Given the description of an element on the screen output the (x, y) to click on. 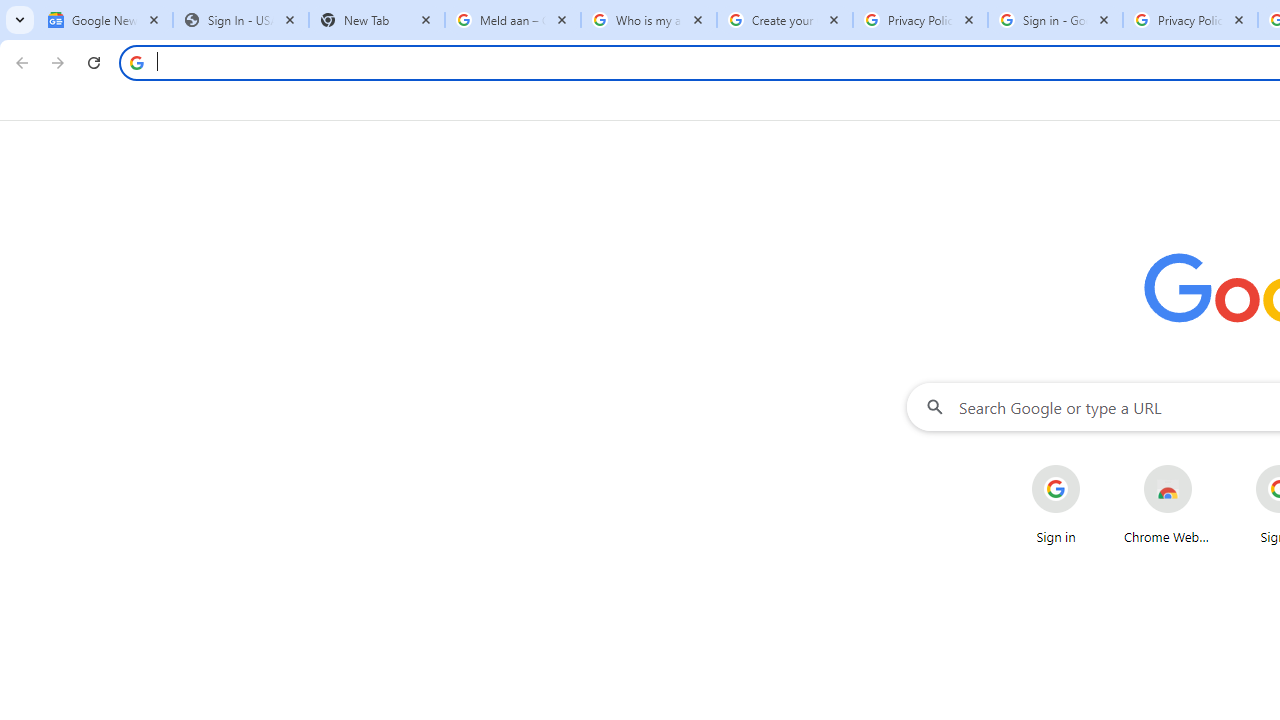
Who is my administrator? - Google Account Help (648, 20)
More actions for Sign in shortcut (1095, 466)
Sign in - Google Accounts (1055, 20)
